Given the description of an element on the screen output the (x, y) to click on. 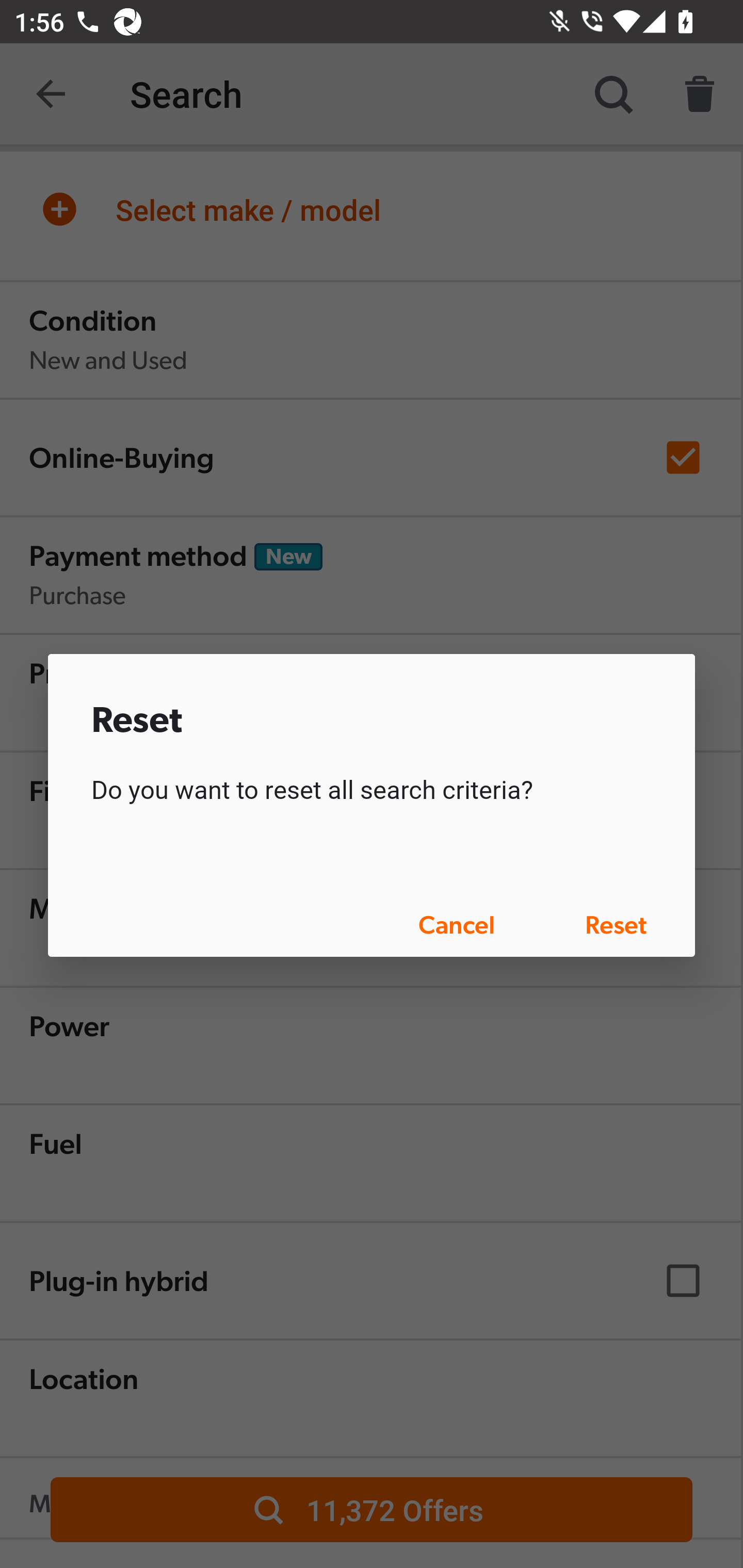
Cancel (456, 924)
Reset (615, 924)
